Given the description of an element on the screen output the (x, y) to click on. 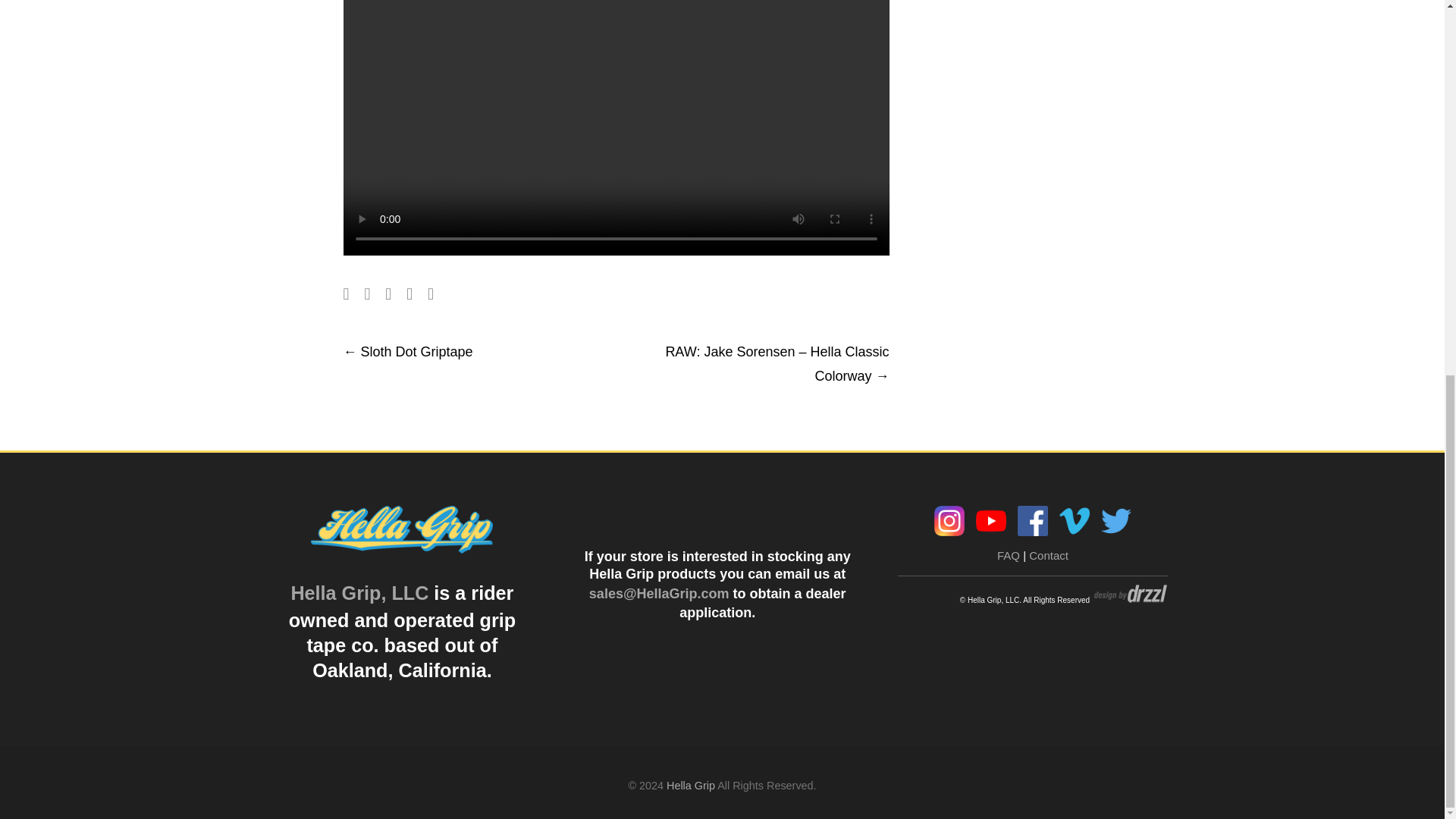
hg-logo (402, 529)
